Given the description of an element on the screen output the (x, y) to click on. 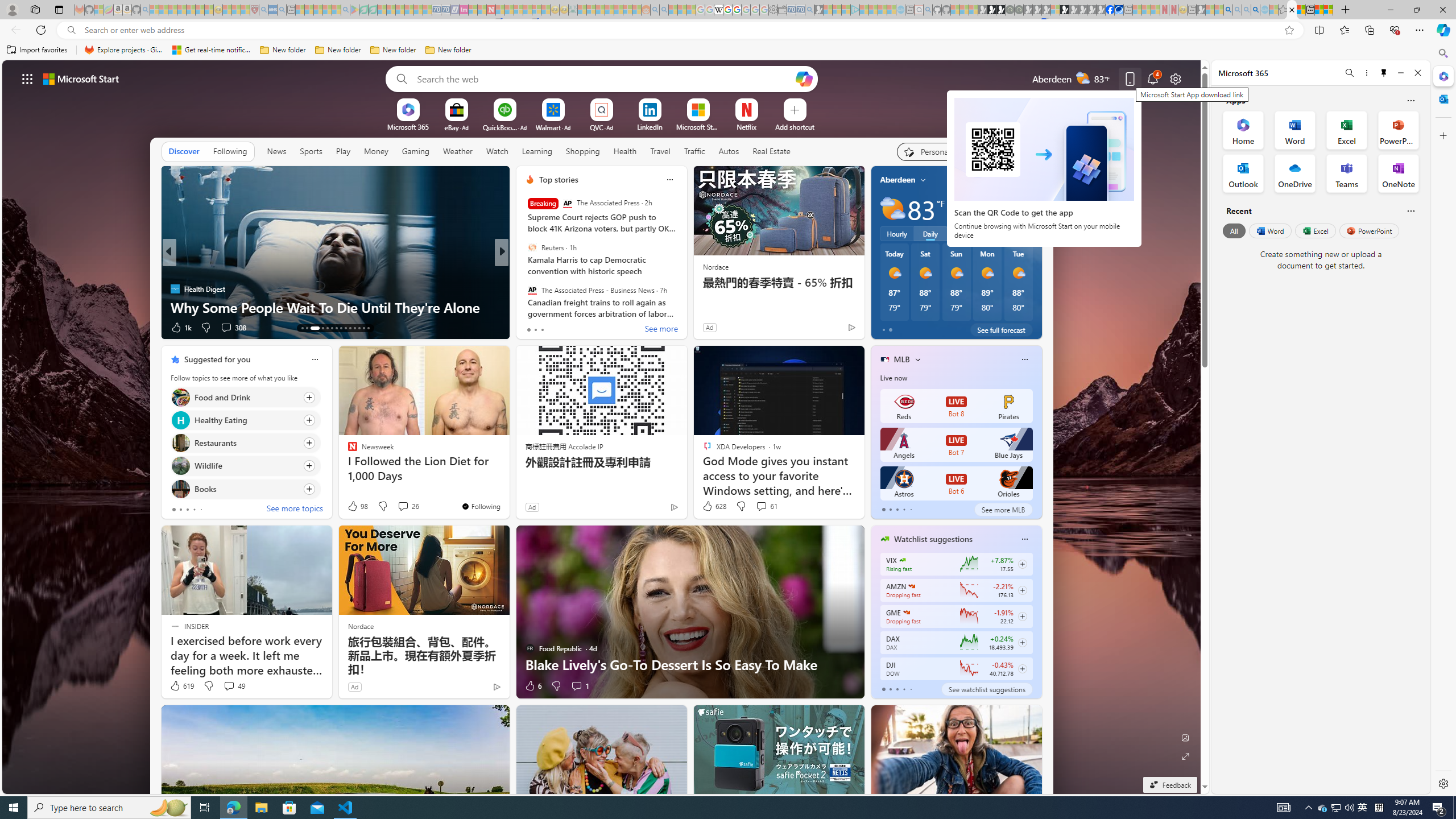
684 Like (532, 327)
View comments 2 Comment (580, 327)
How to restart your PC with just the keyboard (684, 307)
tab-2 (897, 689)
Bluey: Let's Play! - Apps on Google Play - Sleeping (354, 9)
Search icon (70, 29)
View comments 26 Comment (408, 505)
Netflix (746, 126)
PowerPoint Office App (1398, 129)
Import favorites (36, 49)
